Given the description of an element on the screen output the (x, y) to click on. 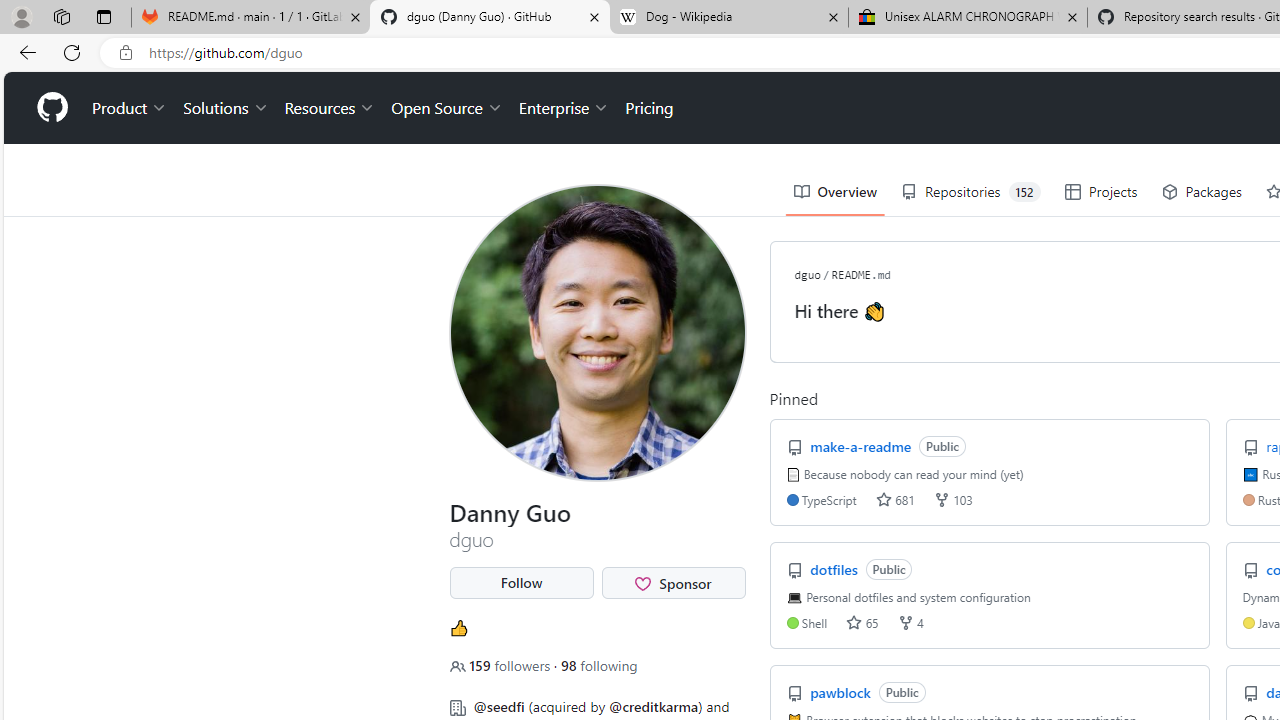
dotfiles (835, 568)
Packages (1201, 192)
Open Source (446, 107)
Product (130, 107)
View dguo's full-sized avatar (597, 332)
Dog - Wikipedia (729, 17)
Product (130, 107)
Repositories 152 (971, 192)
stars 65 (862, 622)
Follow (521, 583)
Sponsor @dguo (673, 583)
Open Source (446, 107)
